Given the description of an element on the screen output the (x, y) to click on. 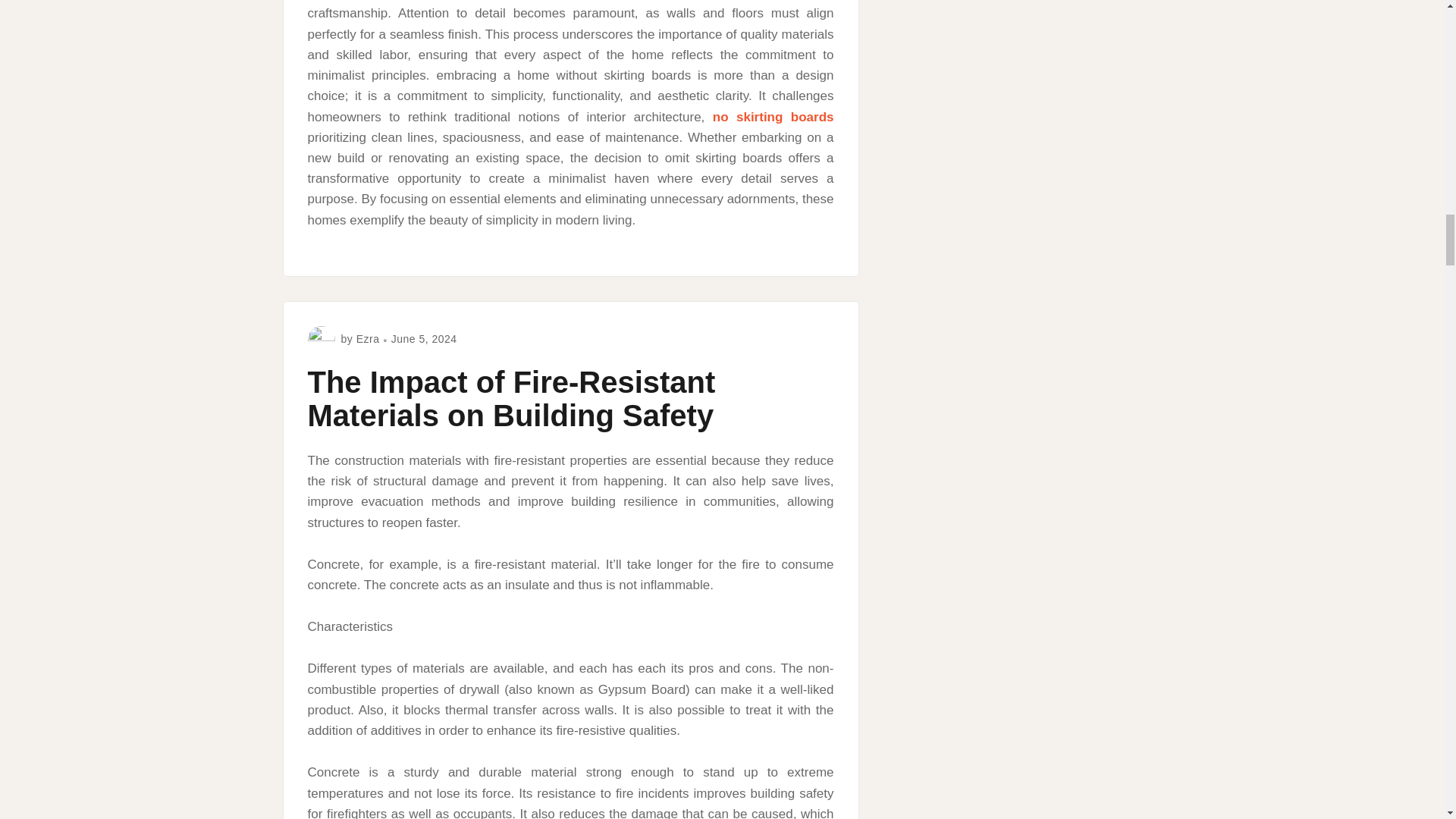
no skirting boards (773, 116)
Ezra (368, 338)
June 5, 2024 (424, 338)
The Impact of Fire-Resistant Materials on Building Safety (511, 398)
